Given the description of an element on the screen output the (x, y) to click on. 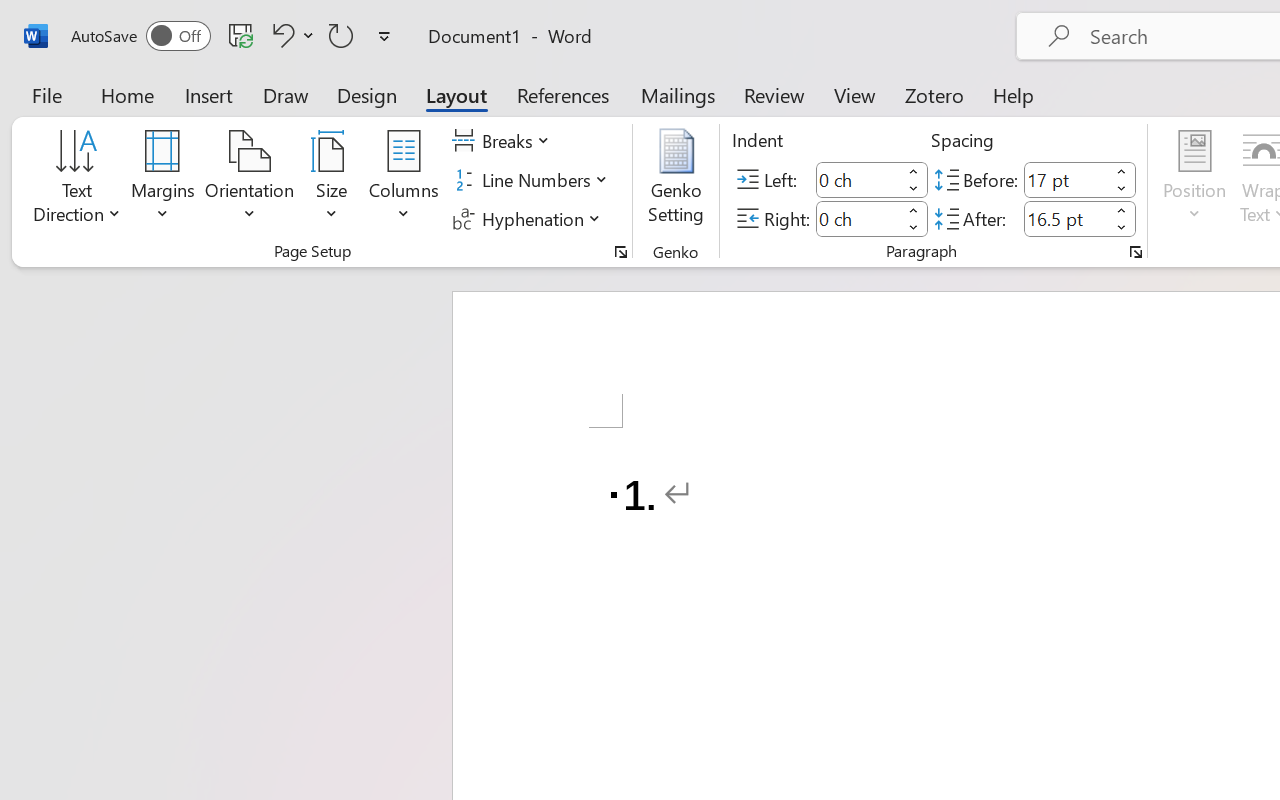
Margins (163, 179)
Spacing After (1066, 218)
Less (1121, 227)
Size (331, 179)
Text Direction (77, 179)
More (1121, 210)
Undo Number Default (290, 35)
Genko Setting... (676, 179)
